Given the description of an element on the screen output the (x, y) to click on. 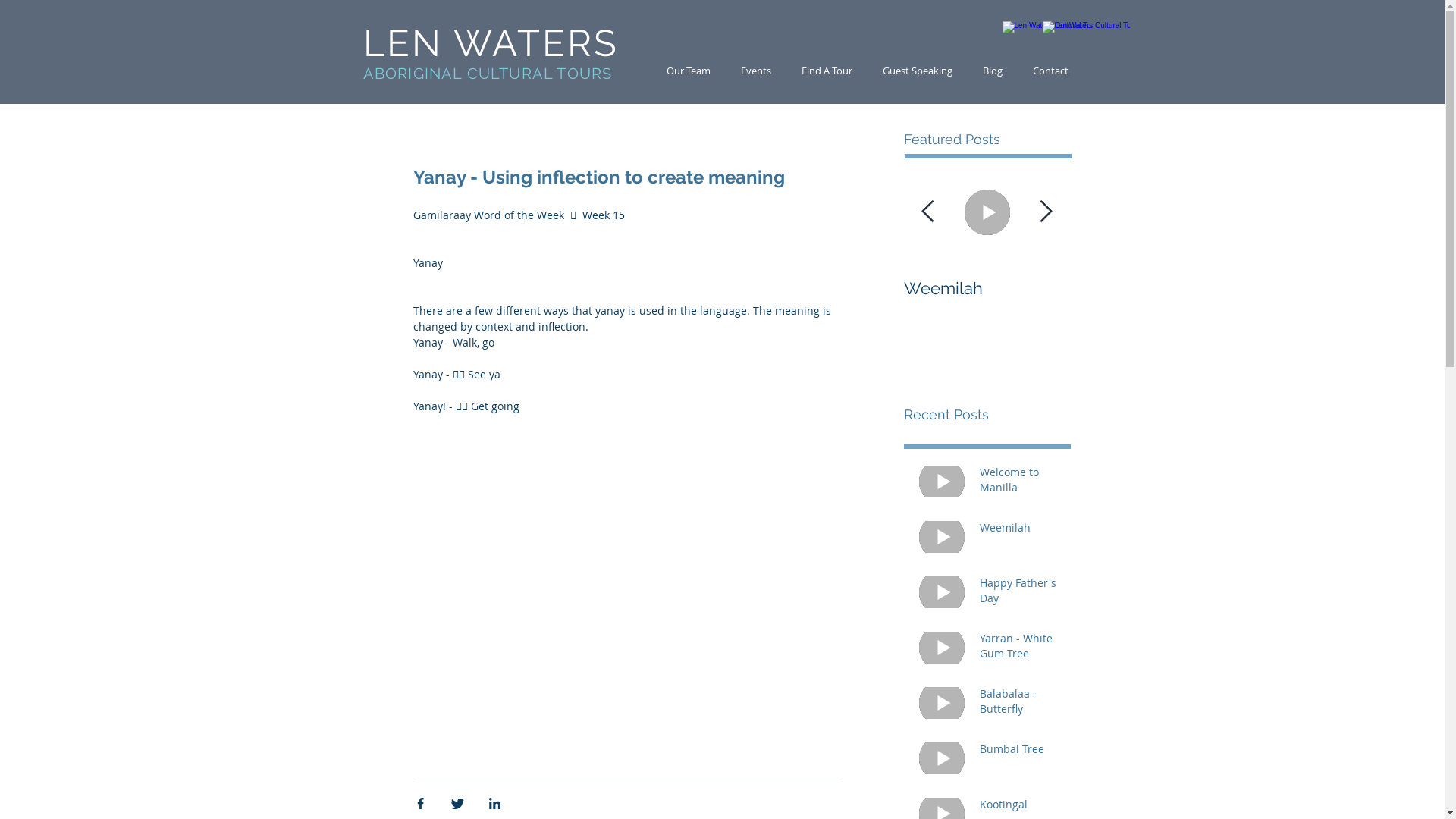
Contact Element type: text (1050, 70)
Bumbal Tree Element type: text (1020, 751)
Find A Tour Element type: text (825, 70)
LEN WATERS  Element type: text (493, 49)
Happy Father's Day Element type: text (1020, 593)
Welcome to Manilla Element type: text (1020, 482)
Weemilah Element type: text (986, 288)
Our Team Element type: text (687, 70)
Balabalaa - Butterfly Element type: text (1020, 703)
Blog Element type: text (992, 70)
Kootingal Element type: text (1020, 807)
Yarran - White Gum Tree Element type: text (1020, 648)
ABORIGINAL CULTURAL TOURS Element type: text (486, 73)
Weemilah Element type: text (1020, 530)
Guest Speaking Element type: text (917, 70)
Events Element type: text (754, 70)
Welcome to Manilla Element type: text (820, 288)
